Given the description of an element on the screen output the (x, y) to click on. 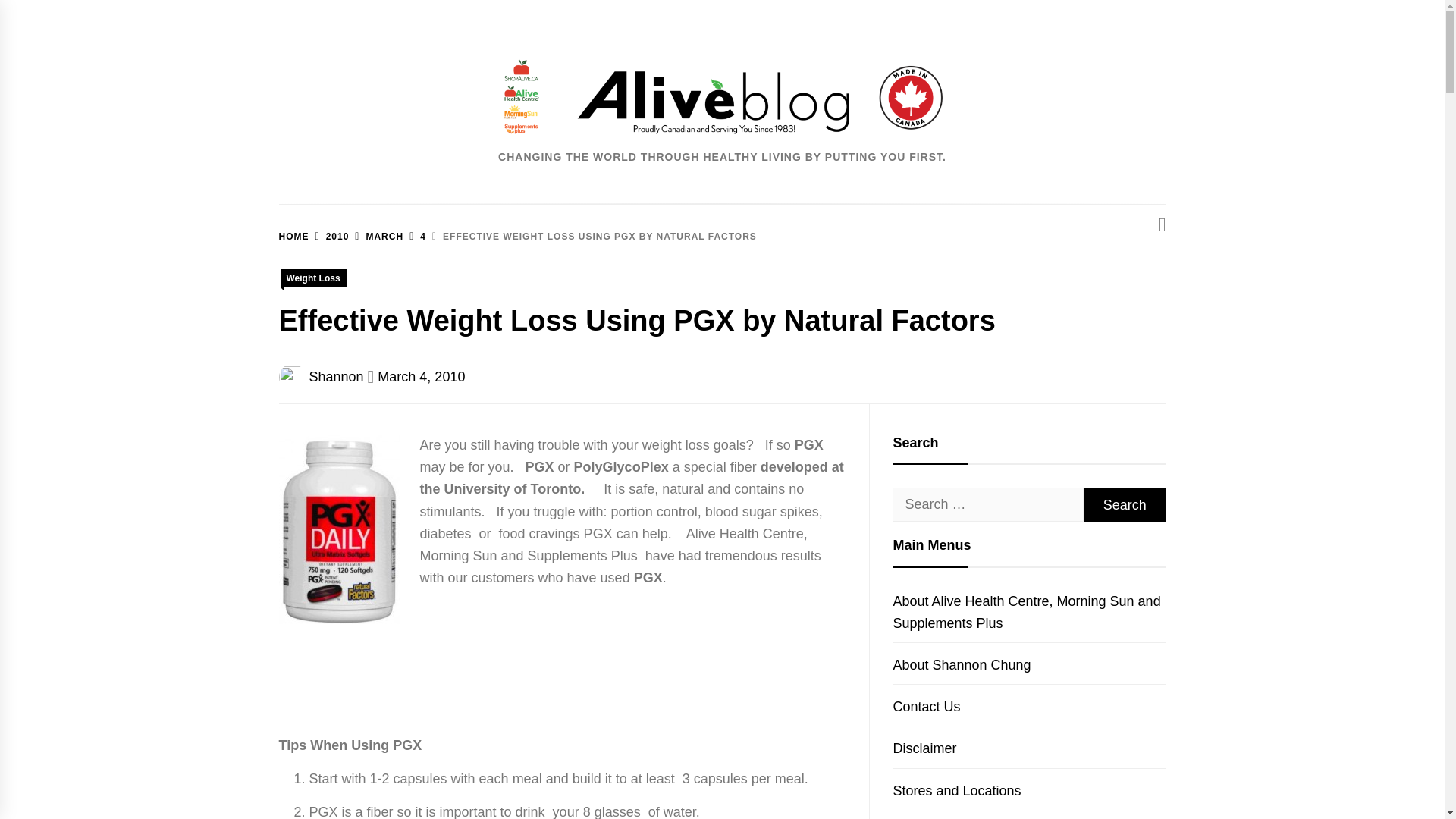
Shannon (336, 376)
Search (1124, 504)
HOME (293, 235)
Disclaimer (924, 748)
MARCH (376, 235)
2010 (328, 235)
Search (1124, 504)
Search (1124, 504)
About Alive Health Centre, Morning Sun and Supplements Plus (1026, 611)
ALIVE HEALTH BLOG (805, 211)
